Given the description of an element on the screen output the (x, y) to click on. 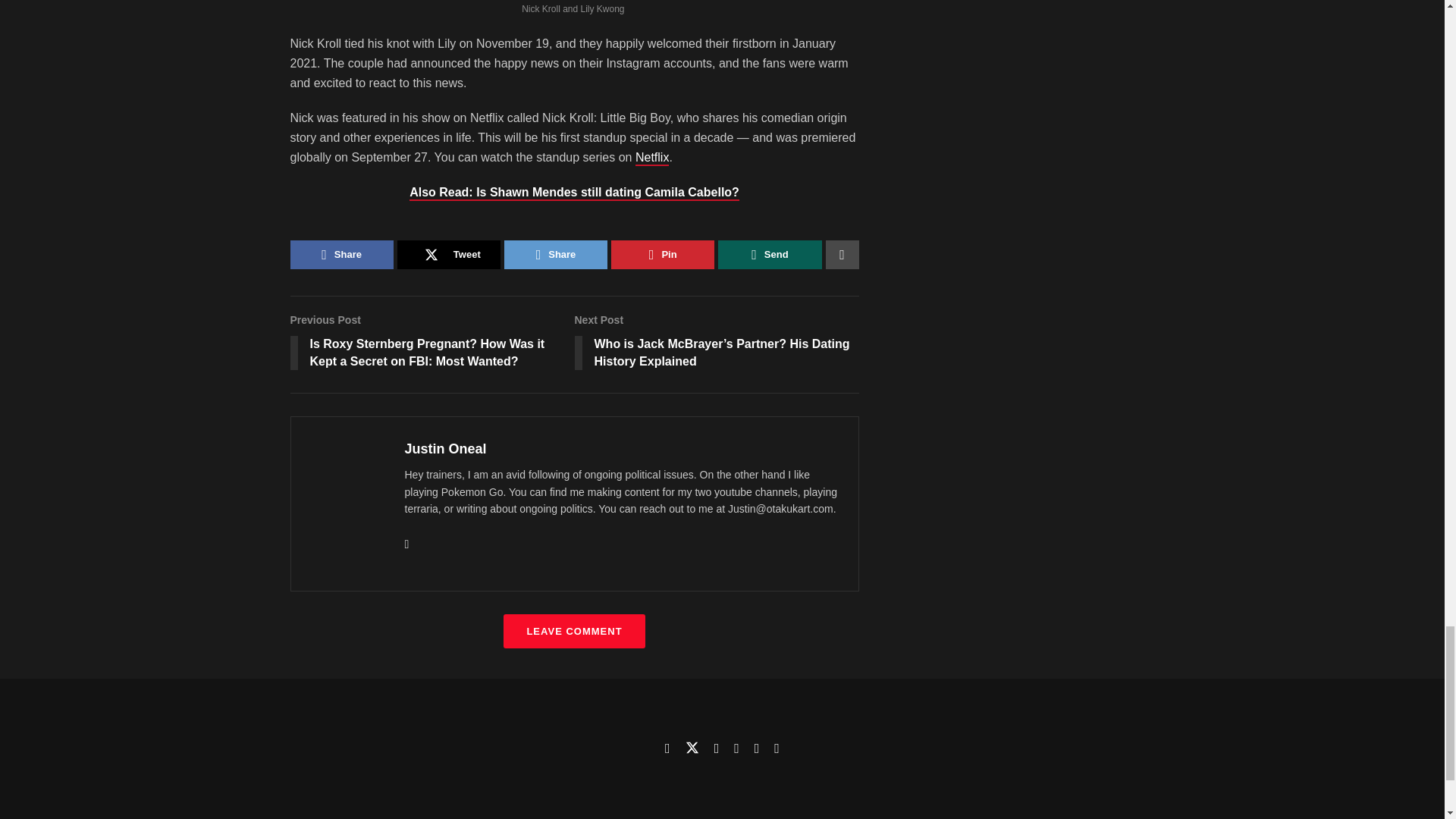
Share (341, 254)
Pin (662, 254)
Netflix (651, 158)
Also Read: Is Shawn Mendes still dating Camila Cabello? (574, 192)
Share (555, 254)
Justin Oneal (445, 448)
Tweet (448, 254)
Send (769, 254)
